Given the description of an element on the screen output the (x, y) to click on. 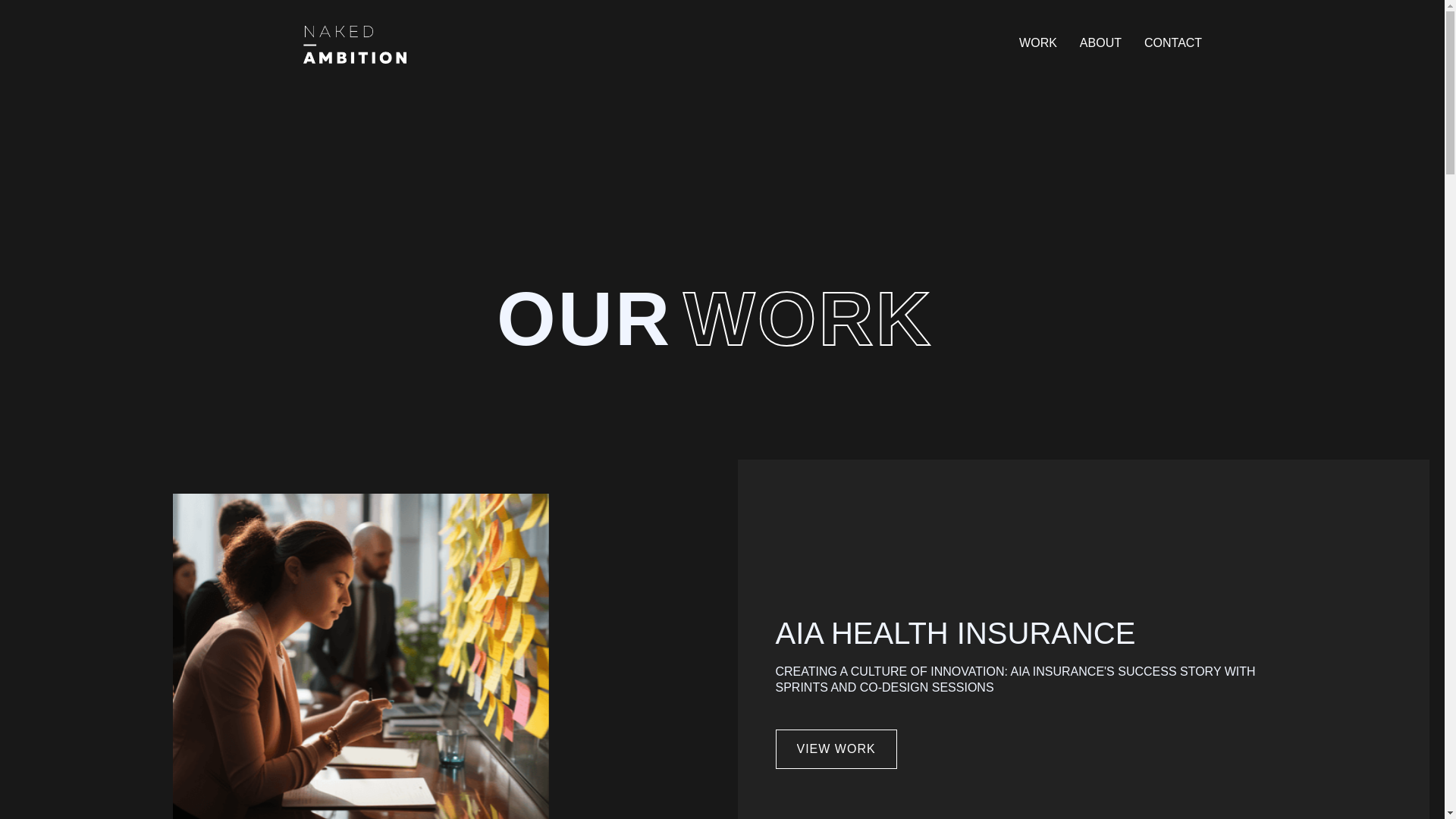
VIEW WORK Element type: text (835, 748)
CONTACT
CONTACT Element type: text (1172, 44)
WORK
WORK Element type: text (1038, 44)
ABOUT
ABOUT Element type: text (1100, 44)
